Given the description of an element on the screen output the (x, y) to click on. 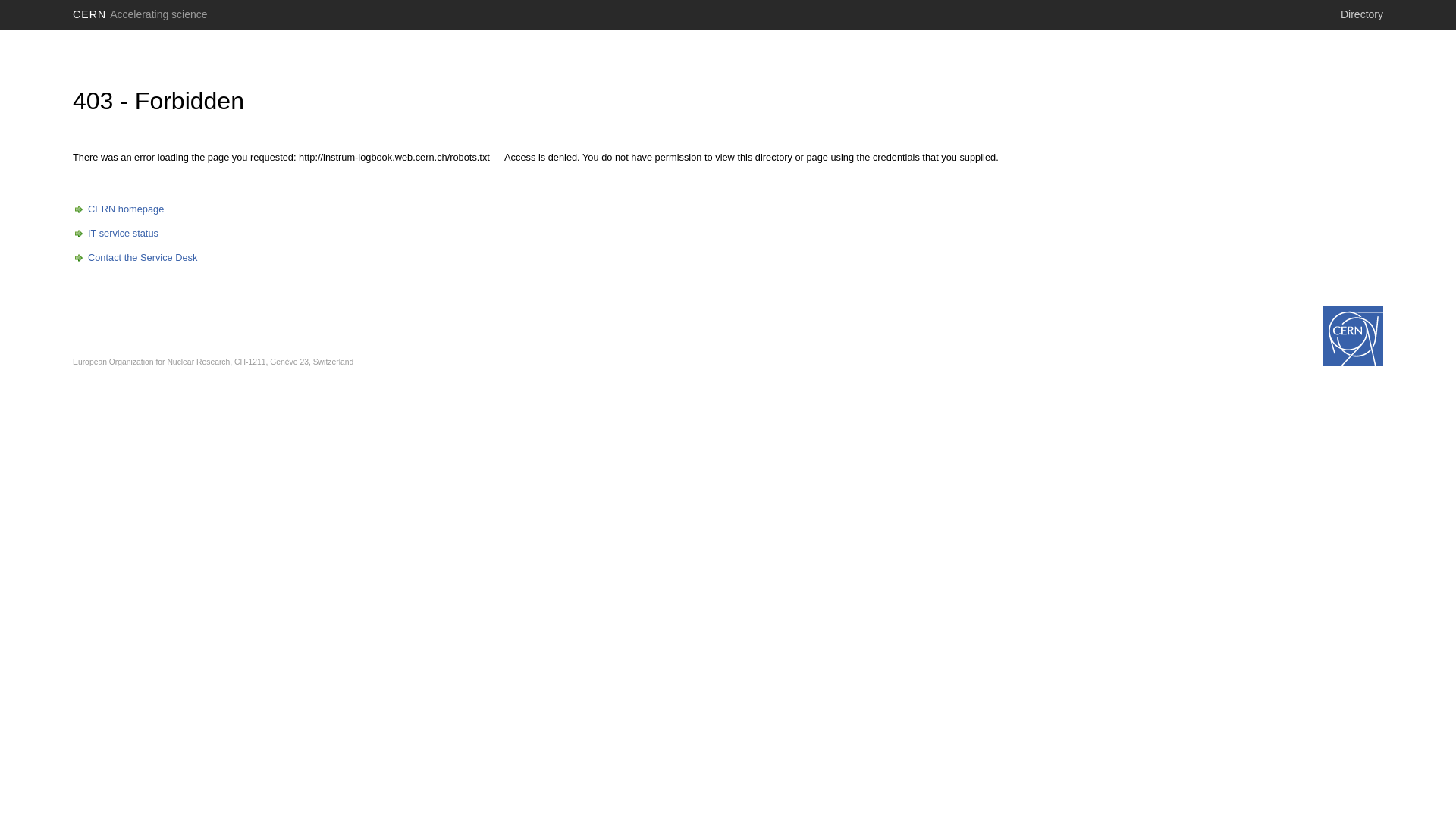
IT service status Element type: text (115, 232)
CERN homepage Element type: text (117, 208)
Directory Element type: text (1361, 14)
CERN Accelerating science Element type: text (139, 14)
Contact the Service Desk Element type: text (134, 257)
www.cern.ch Element type: hover (1352, 335)
